Given the description of an element on the screen output the (x, y) to click on. 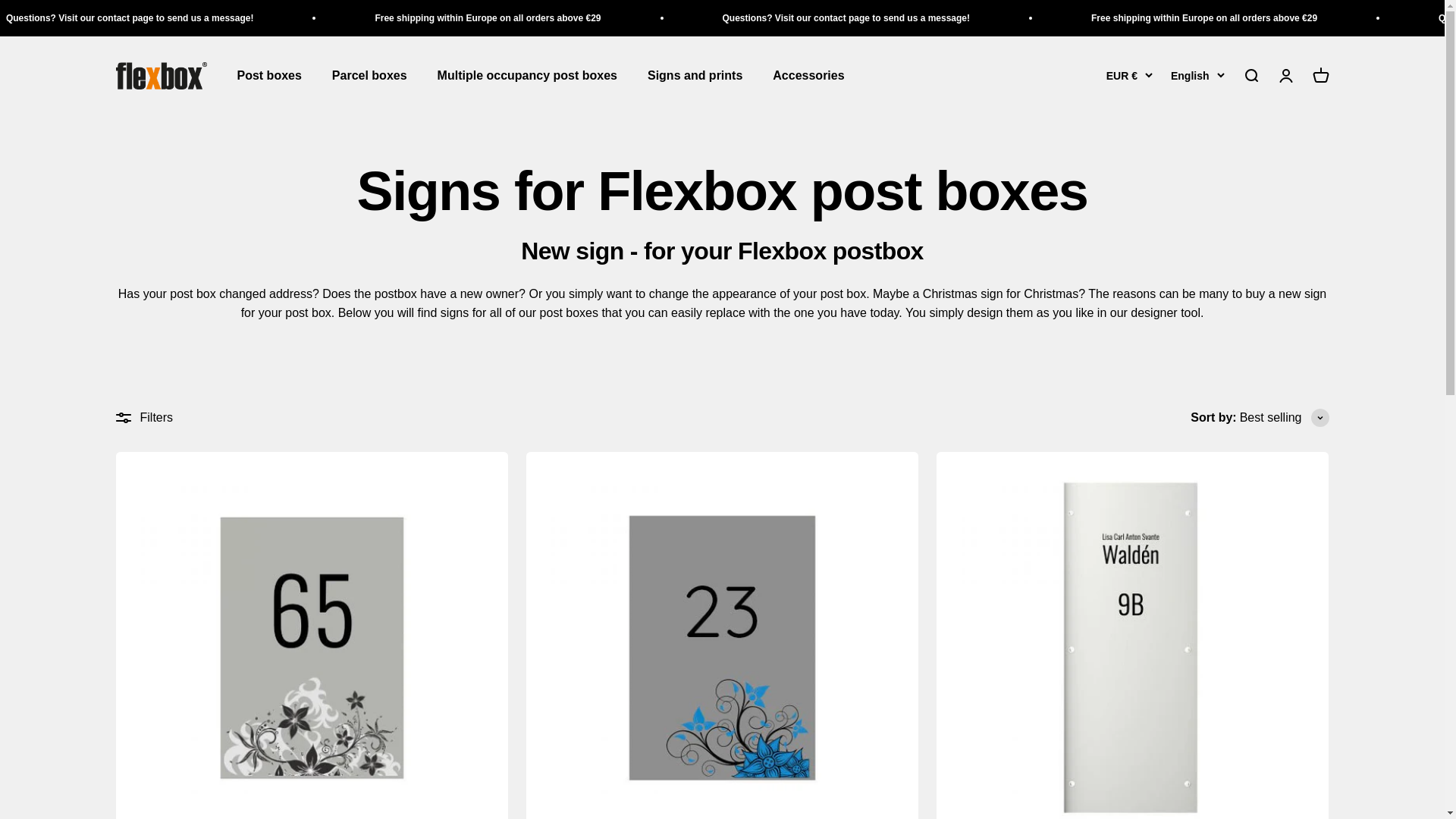
Post boxes (268, 75)
Parcel boxes (369, 75)
Accessories (808, 75)
Multiple occupancy post boxes (527, 75)
Signs and prints (694, 75)
Flexbox (160, 75)
Questions? Visit our contact page to send us a message! (129, 18)
Questions? Visit our contact page to send us a message! (845, 18)
